Given the description of an element on the screen output the (x, y) to click on. 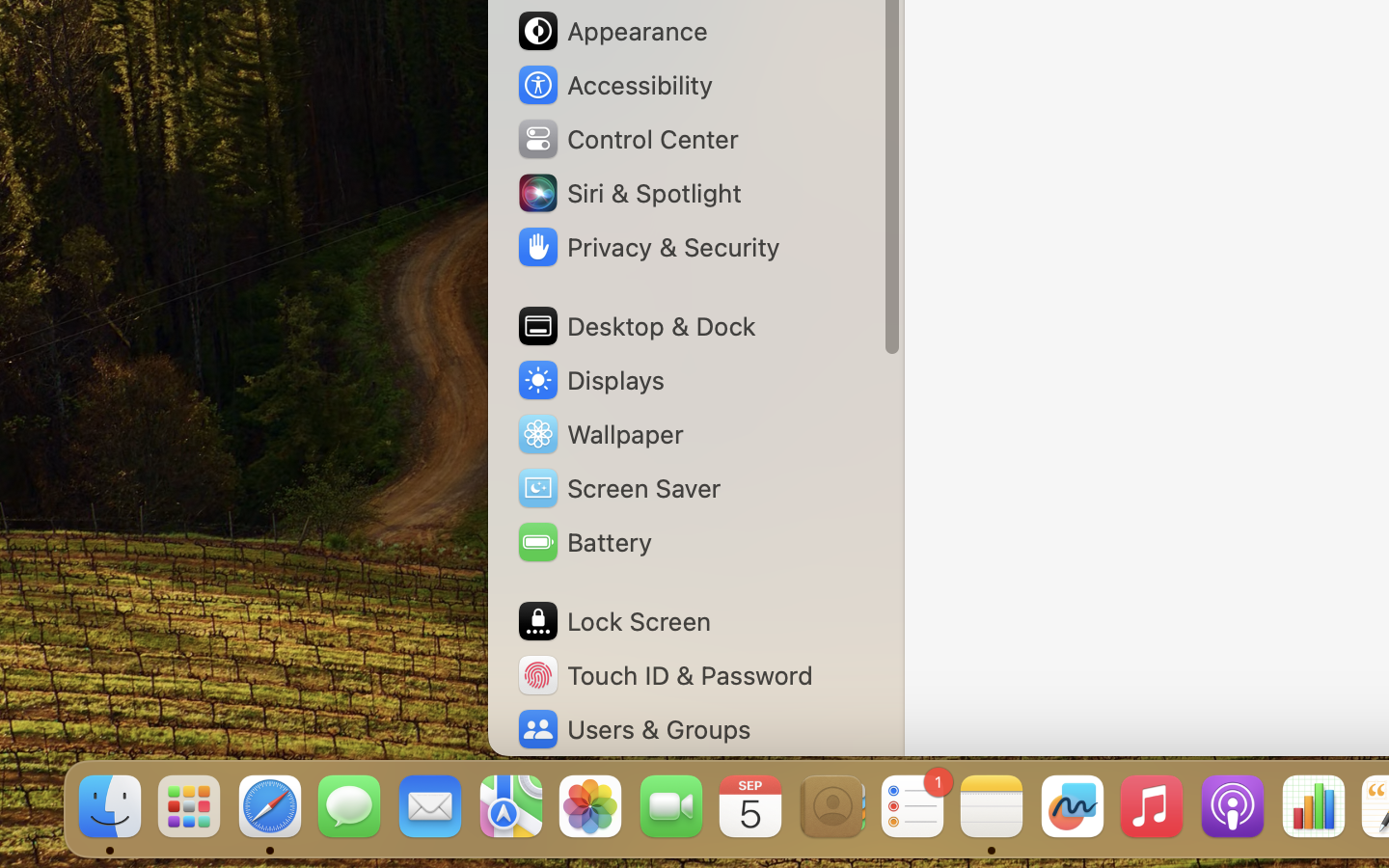
Accessibility Element type: AXStaticText (614, 84)
Displays Element type: AXStaticText (590, 379)
Touch ID & Password Element type: AXStaticText (664, 674)
